Given the description of an element on the screen output the (x, y) to click on. 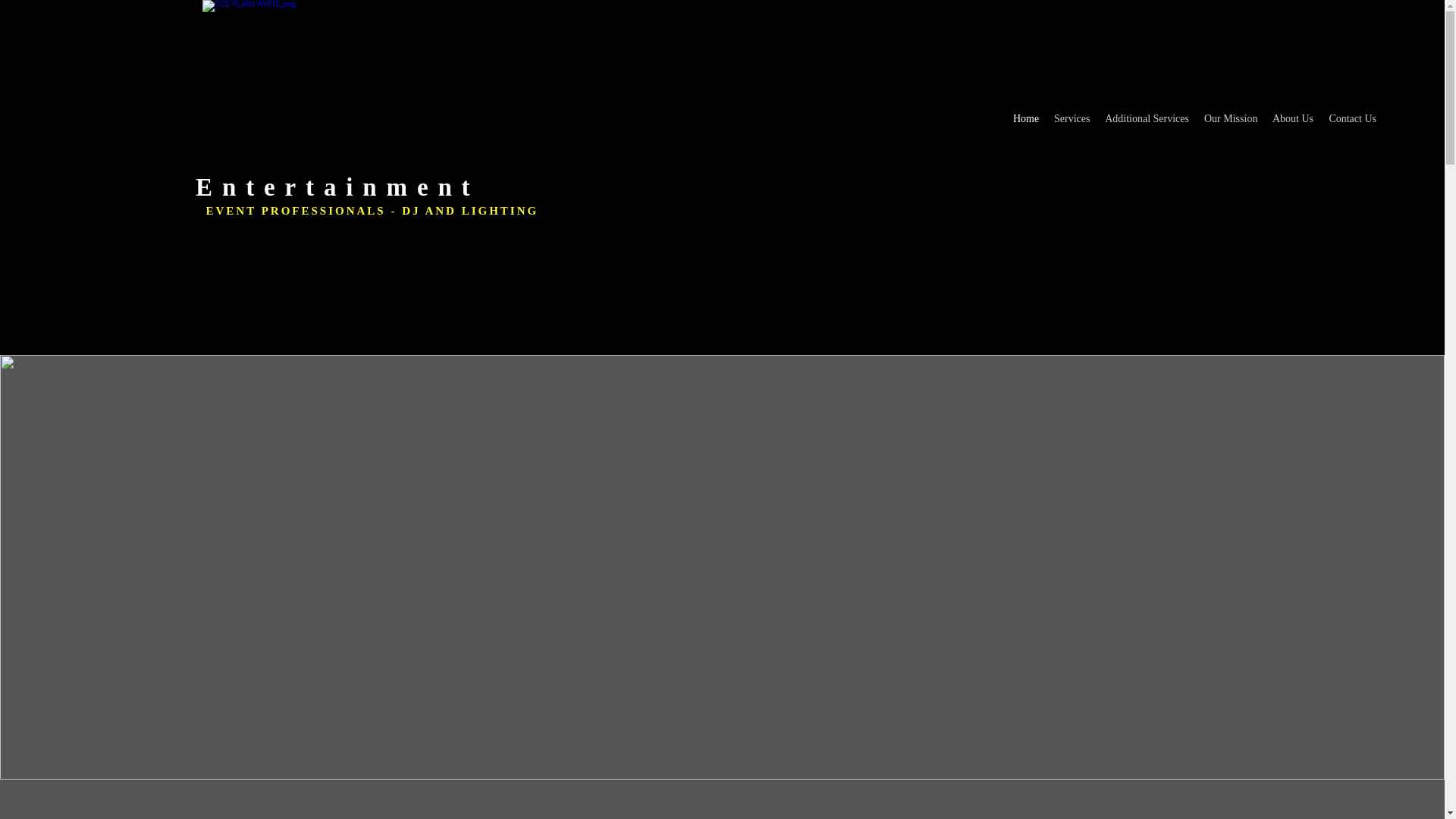
Services (1071, 118)
Our Mission (1230, 118)
Contact Us (1352, 118)
Additional Services (1146, 118)
Home (1026, 118)
EVENT PROFESSIONALS - DJ AND LIGHTING (372, 210)
About Us (1292, 118)
